Given the description of an element on the screen output the (x, y) to click on. 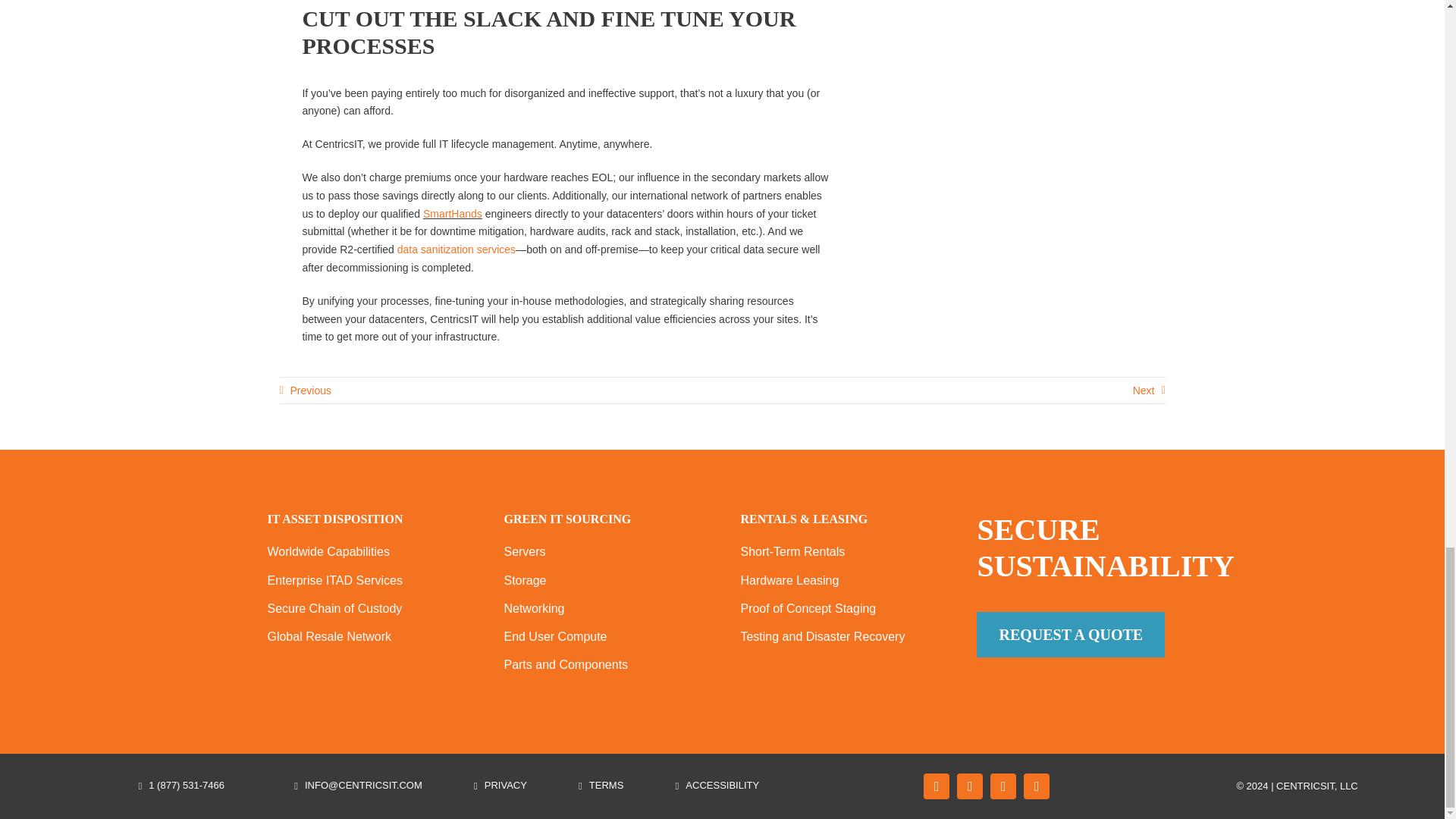
YouTube (1003, 786)
LinkedIn (1036, 786)
Facebook (936, 786)
X (969, 786)
